Given the description of an element on the screen output the (x, y) to click on. 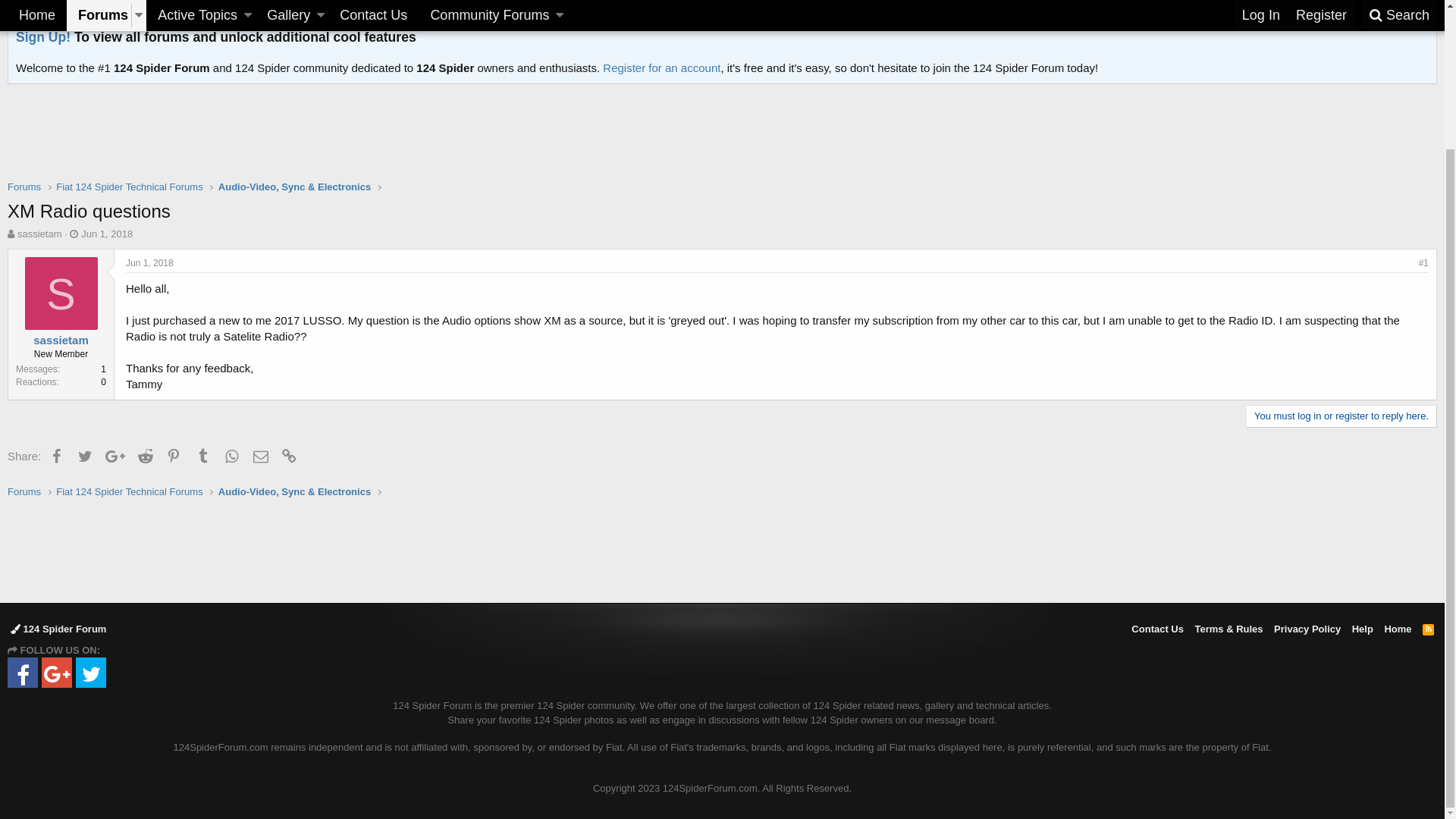
Tumblr Element type: text (202, 627)
Gallery Element type: text (284, 187)
124 Spider Forum Element type: text (58, 800)
Twitter Element type: text (85, 627)
Advertisement Element type: hover (721, 297)
Thread starter Element type: hover (10, 406)
Privacy Policy Element type: text (1306, 800)
Active Topics Element type: text (192, 187)
Advertisement Element type: hover (721, 721)
Audio-Video, Sync & Electronics Element type: text (294, 359)
Terms & Rules Element type: text (1228, 800)
Link Element type: text (289, 627)
New Posts Element type: text (30, 158)
sassietam Element type: text (39, 405)
Jun 1, 2018 Element type: text (149, 435)
Forums Element type: text (23, 663)
Forums Element type: text (98, 187)
WhatsApp Element type: text (231, 627)
Forums Element type: text (23, 359)
Start date Element type: hover (73, 406)
Pinterest Element type: text (173, 627)
Register Element type: text (1320, 187)
Audio-Video, Sync & Electronics Element type: text (294, 663)
Community Forums Element type: text (492, 187)
RSS Element type: text (1428, 800)
Fiat 124 Spider Technical Forums Element type: text (129, 359)
Jun 1, 2018 Element type: text (106, 405)
Reddit Element type: text (144, 627)
Google+ Element type: text (114, 627)
Facebook Element type: text (56, 627)
Contact Us Element type: text (1157, 800)
S Element type: text (60, 465)
Sign Up! Element type: text (42, 208)
sassietam Element type: text (60, 511)
Contact Us Element type: text (373, 187)
Home Element type: text (36, 187)
Home Element type: text (1397, 800)
Log In Element type: text (1260, 187)
Search Forums Element type: text (100, 158)
Register for an account Element type: text (661, 239)
#1 Element type: text (1423, 434)
Email Element type: text (260, 627)
You must log in or register to reply here. Element type: text (1341, 588)
Fiat 124 Spider Technical Forums Element type: text (129, 663)
Help Element type: text (1362, 800)
Search Element type: text (1399, 187)
